Given the description of an element on the screen output the (x, y) to click on. 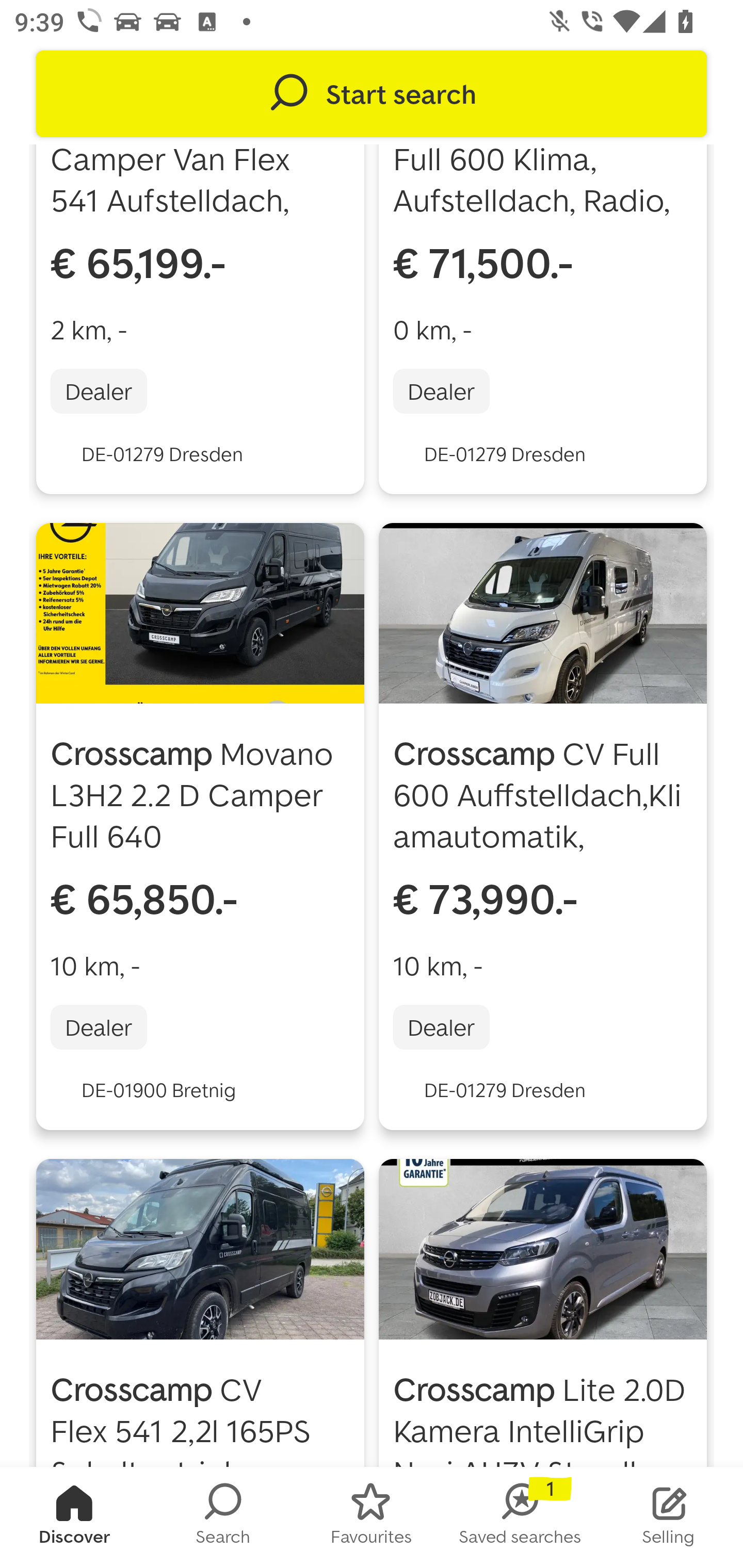
Start search (371, 93)
HOMESCREEN Discover (74, 1517)
SEARCH Search (222, 1517)
FAVORITES Favourites (371, 1517)
SAVED_SEARCHES Saved searches 1 (519, 1517)
STOCK_LIST Selling (668, 1517)
